Given the description of an element on the screen output the (x, y) to click on. 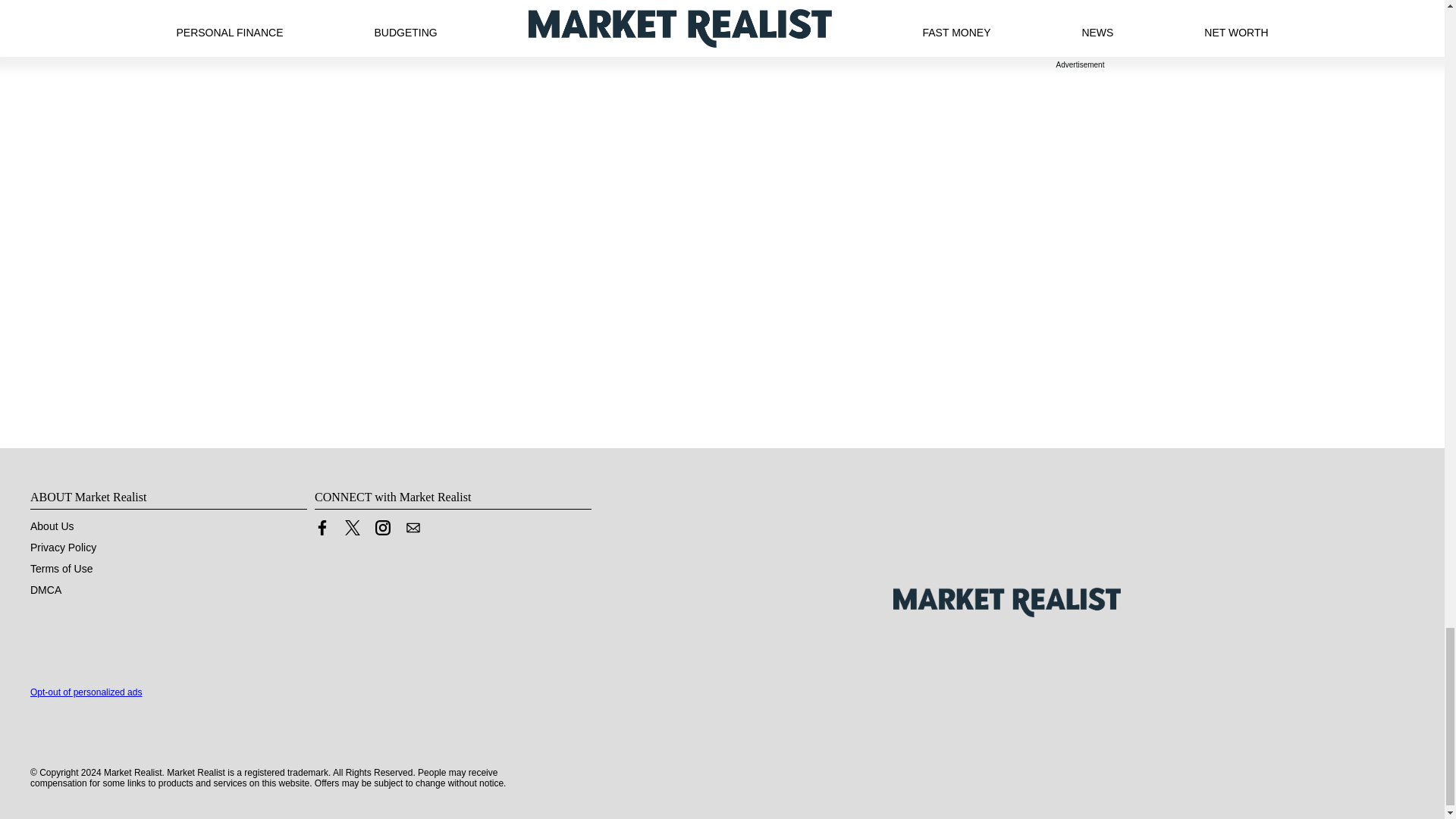
About Us (52, 526)
DMCA (45, 589)
Link to X (352, 527)
Terms of Use (61, 568)
About Us (52, 526)
Terms of Use (61, 568)
Opt-out of personalized ads (85, 692)
Contact us by Email (413, 527)
Link to Instagram (382, 527)
Privacy Policy (63, 547)
Privacy Policy (63, 547)
DMCA (45, 589)
Link to Facebook (322, 527)
Contact us by Email (413, 531)
Link to X (352, 531)
